Given the description of an element on the screen output the (x, y) to click on. 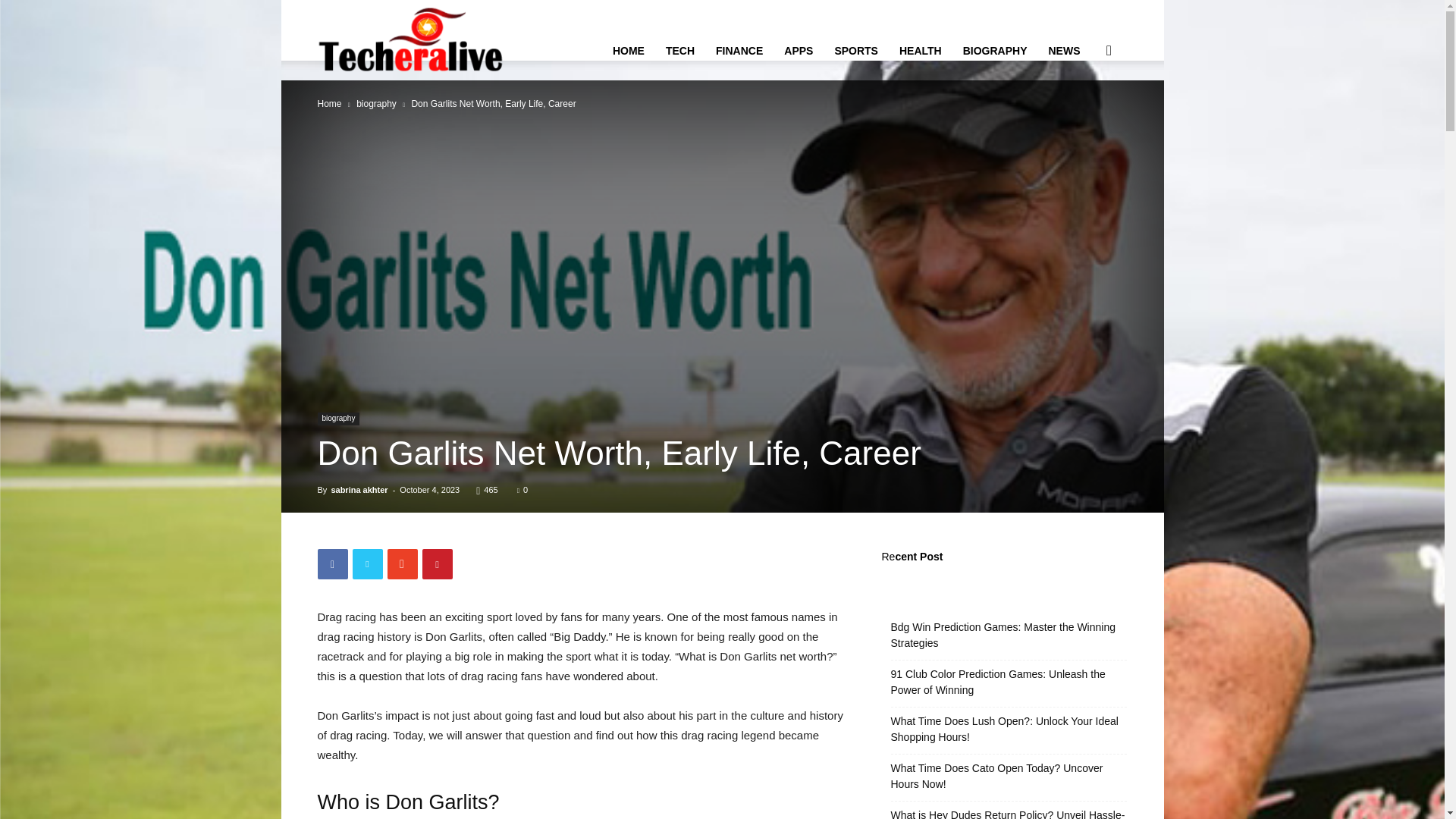
biography (338, 418)
NEWS (1063, 50)
SPORTS (856, 50)
My Blog (412, 39)
View all posts in biography (376, 103)
sabrina akhter (358, 489)
Home (328, 103)
FINANCE (738, 50)
HOME (628, 50)
Search (1085, 122)
BIOGRAPHY (995, 50)
0 (521, 489)
HEALTH (920, 50)
biography (376, 103)
